Given the description of an element on the screen output the (x, y) to click on. 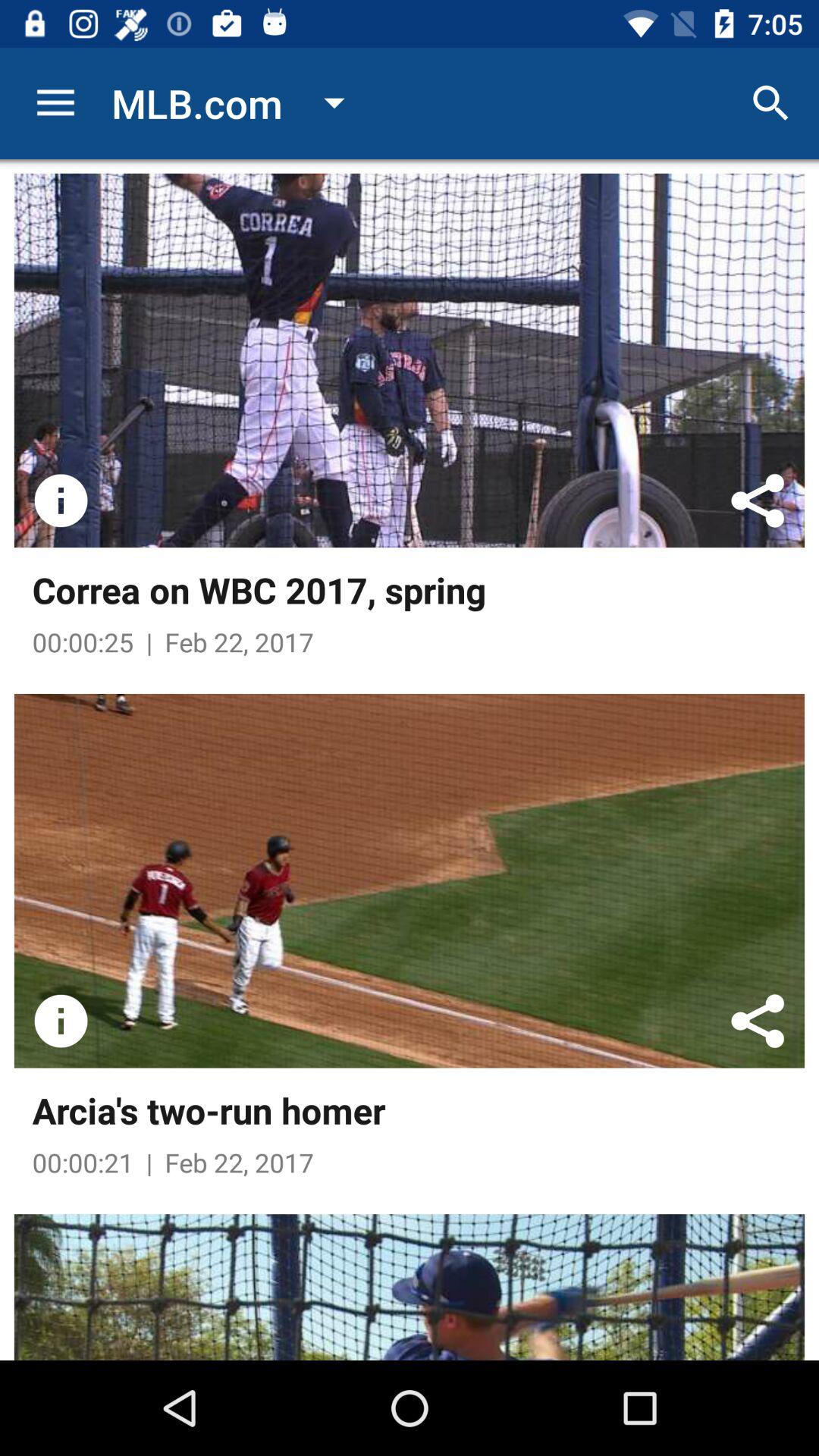
turn off item next to mlb.com (55, 103)
